Given the description of an element on the screen output the (x, y) to click on. 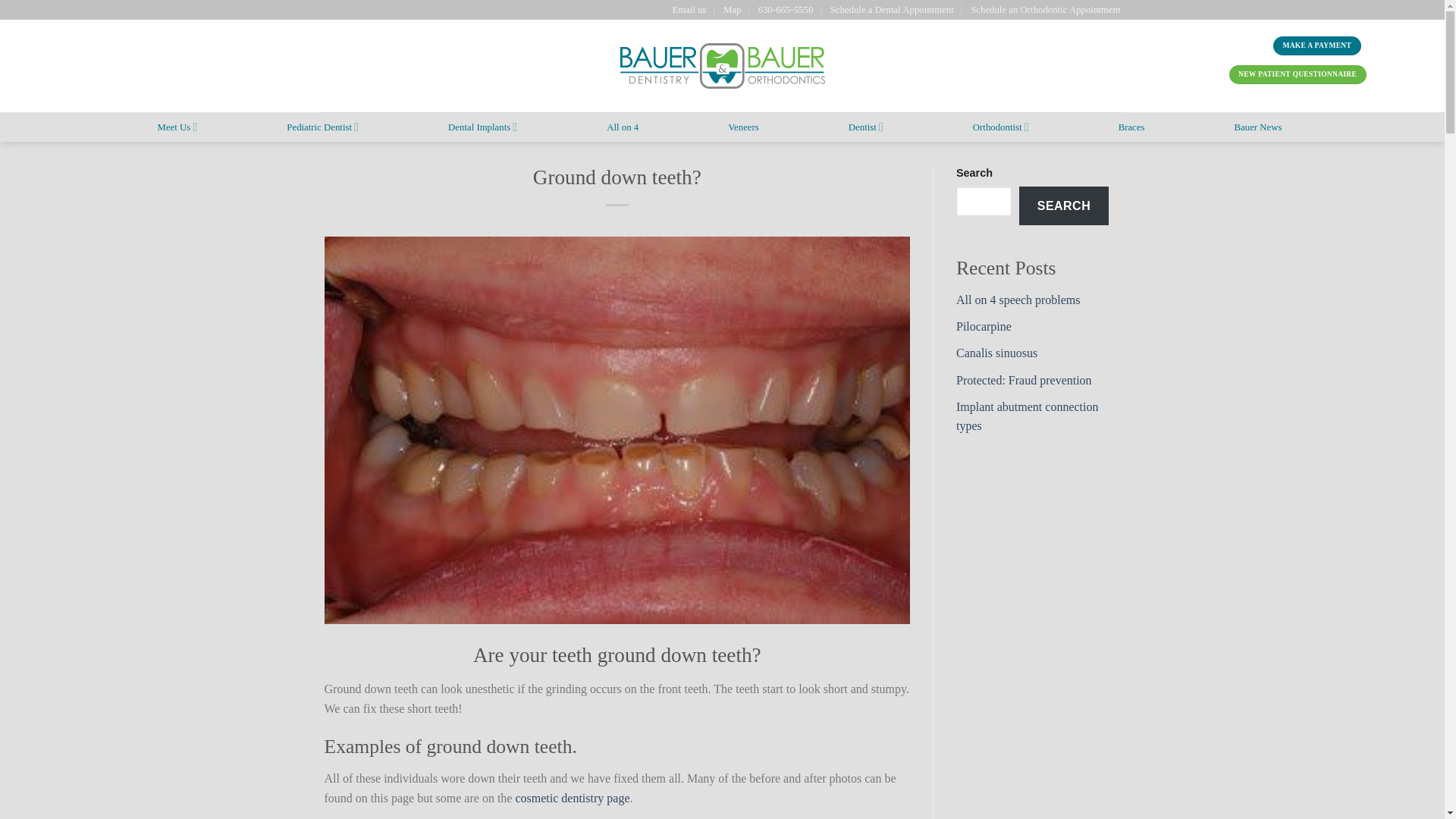
MAKE A PAYMENT (1316, 45)
Schedule a Dental Appointment (891, 9)
Pediatric Dentist (322, 126)
Meet Us (177, 126)
All on 4 (623, 126)
Email us (688, 9)
Veneers (743, 126)
Schedule an Orthodontic Appointment (1045, 9)
Dental Implants (482, 126)
630-665-5550 (785, 9)
Dentist (865, 126)
NEW PATIENT QUESTIONNAIRE (1297, 74)
